Given the description of an element on the screen output the (x, y) to click on. 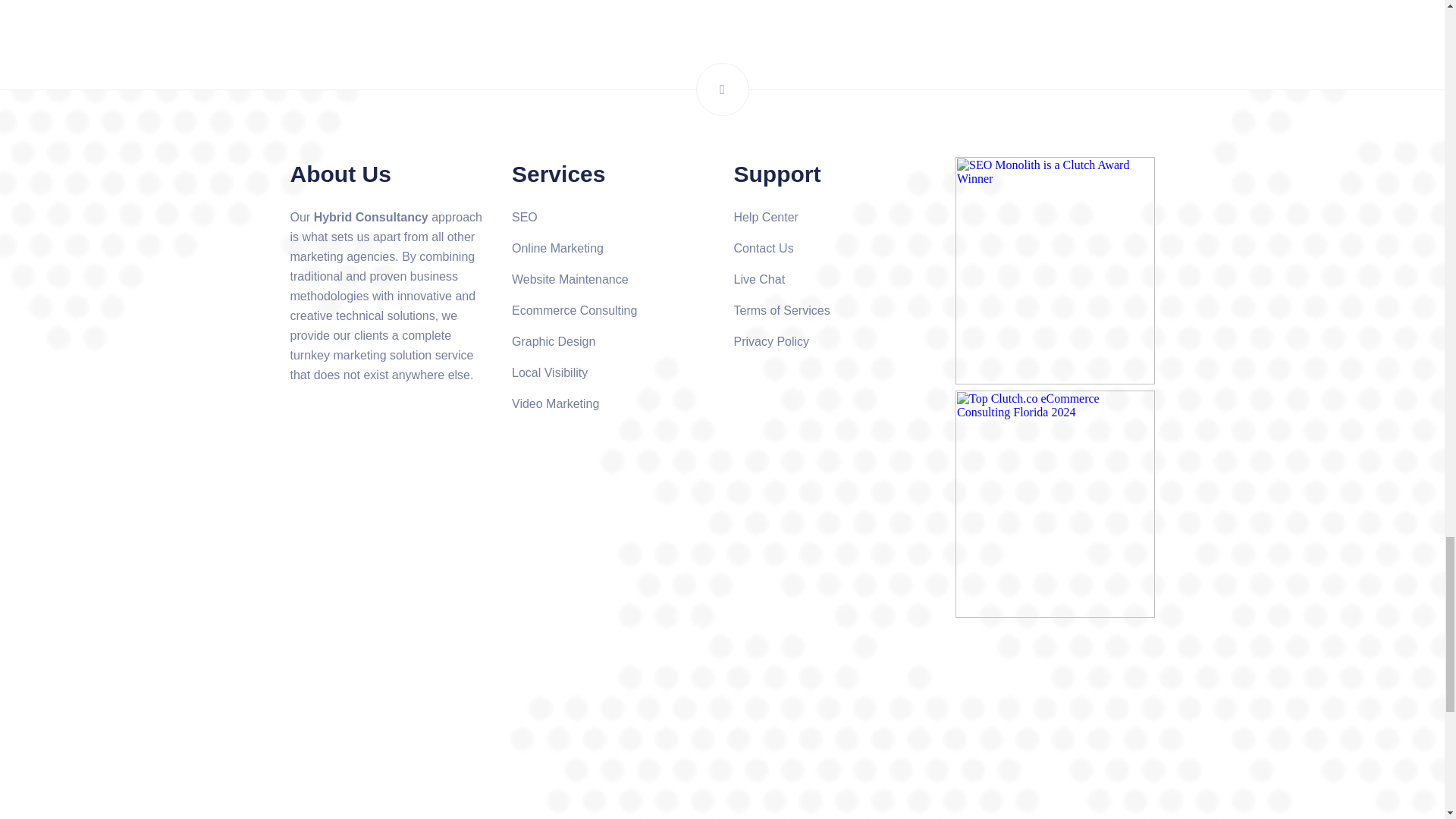
Top Clutch Company Florida 2022 Award (1054, 270)
Video Marketing (555, 403)
SEO (524, 216)
Top Clutch Ecommerce Consulting Florida 2024 (1054, 504)
Online Marketing (558, 246)
Local Visibility (550, 371)
Help Center (765, 216)
Graphic Design (553, 341)
Ecommerce Consulting (574, 309)
Website Maintenance (570, 278)
